Given the description of an element on the screen output the (x, y) to click on. 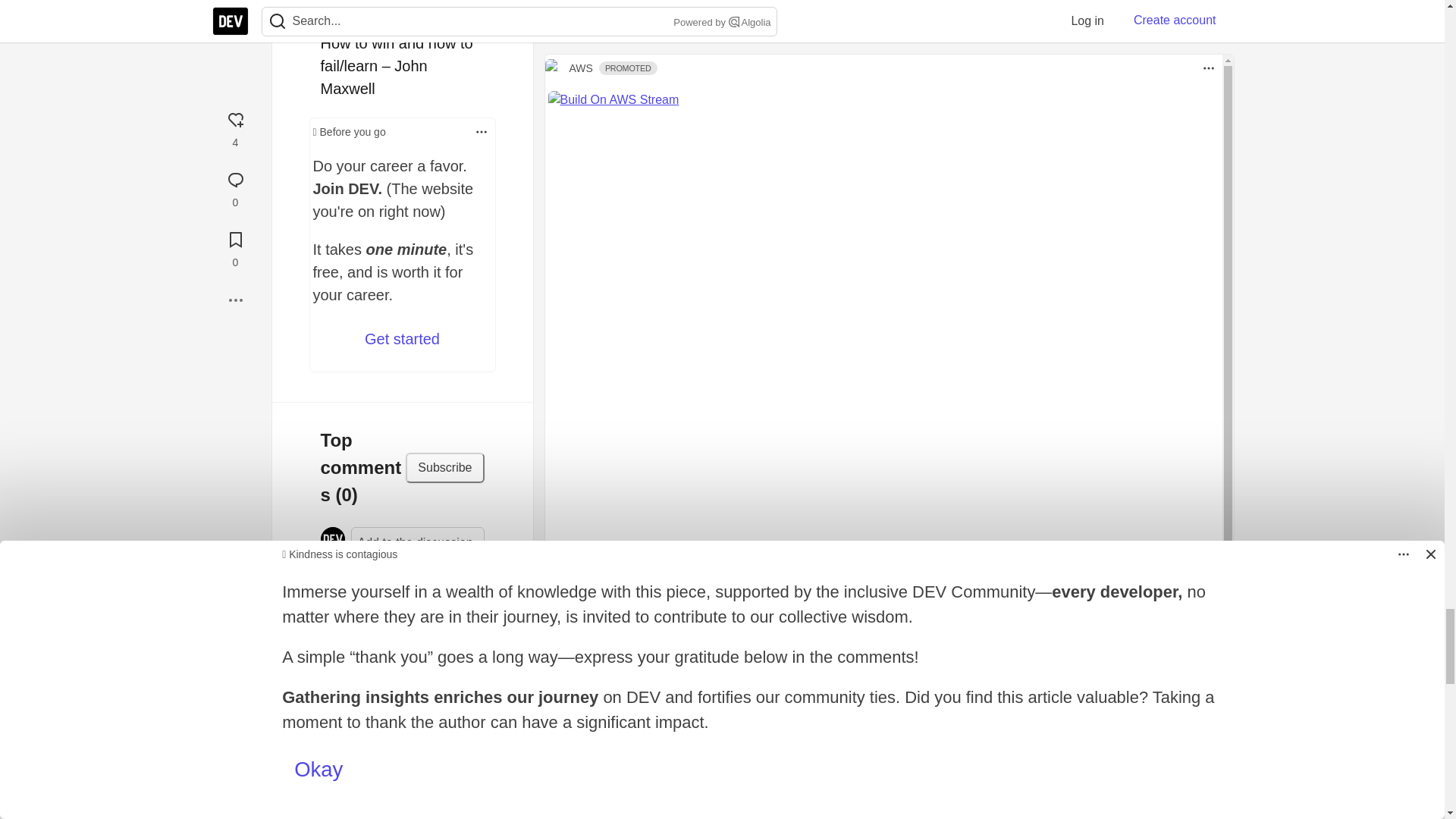
Dropdown menu (480, 131)
Dropdown menu (481, 131)
Dropdown menu (518, 679)
